Given the description of an element on the screen output the (x, y) to click on. 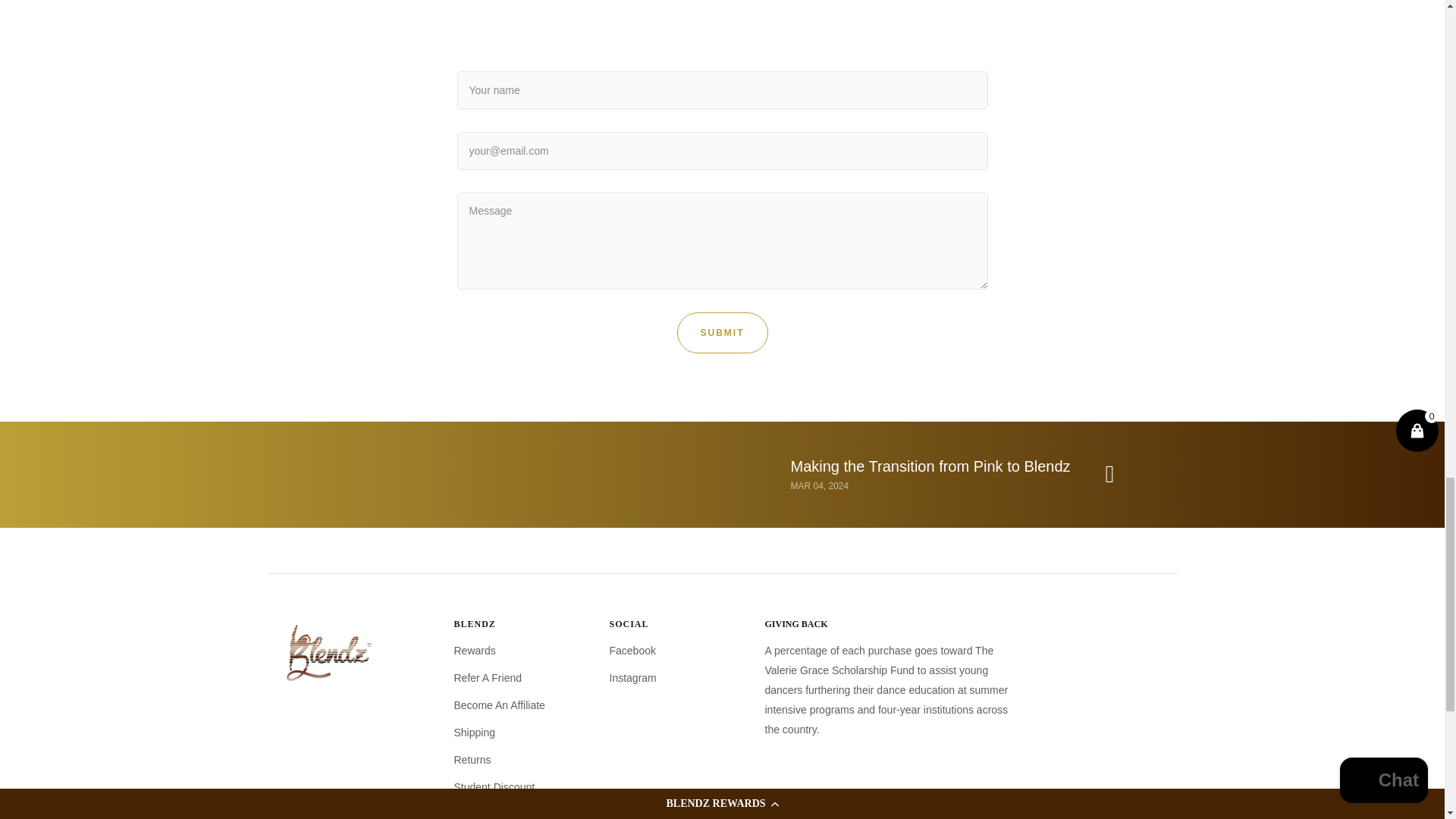
Submit (722, 332)
Facebook (633, 650)
Instagram (633, 677)
